Given the description of an element on the screen output the (x, y) to click on. 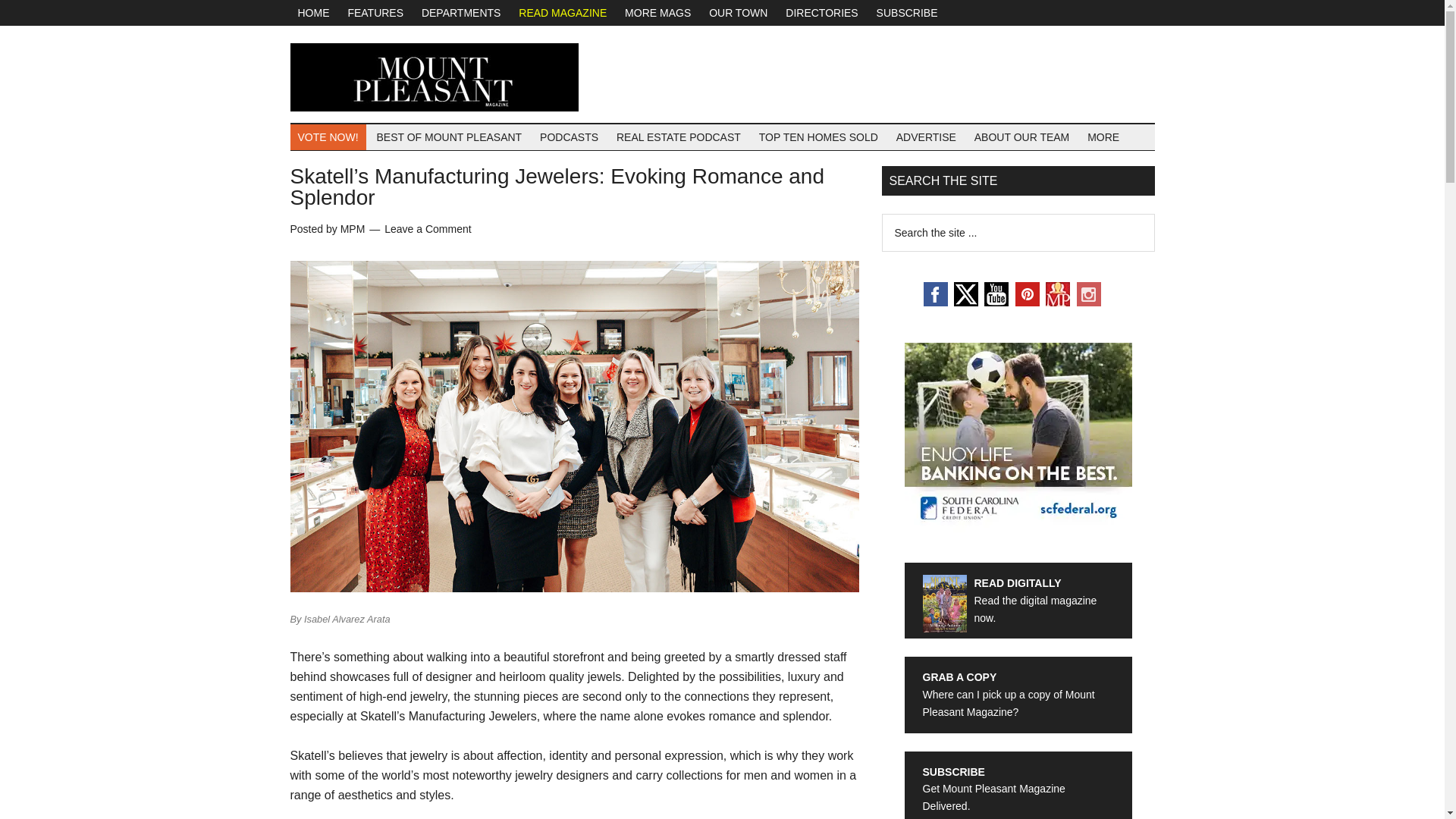
We're on Facebook (935, 301)
HOME (312, 12)
Mount Pleasant Magazine Youtube Channel (996, 301)
DEPARTMENTS (460, 12)
MORE MAGS (657, 12)
2025 Best of Mount Pleasant (327, 136)
FEATURES (374, 12)
We're on Twitter (965, 301)
